Given the description of an element on the screen output the (x, y) to click on. 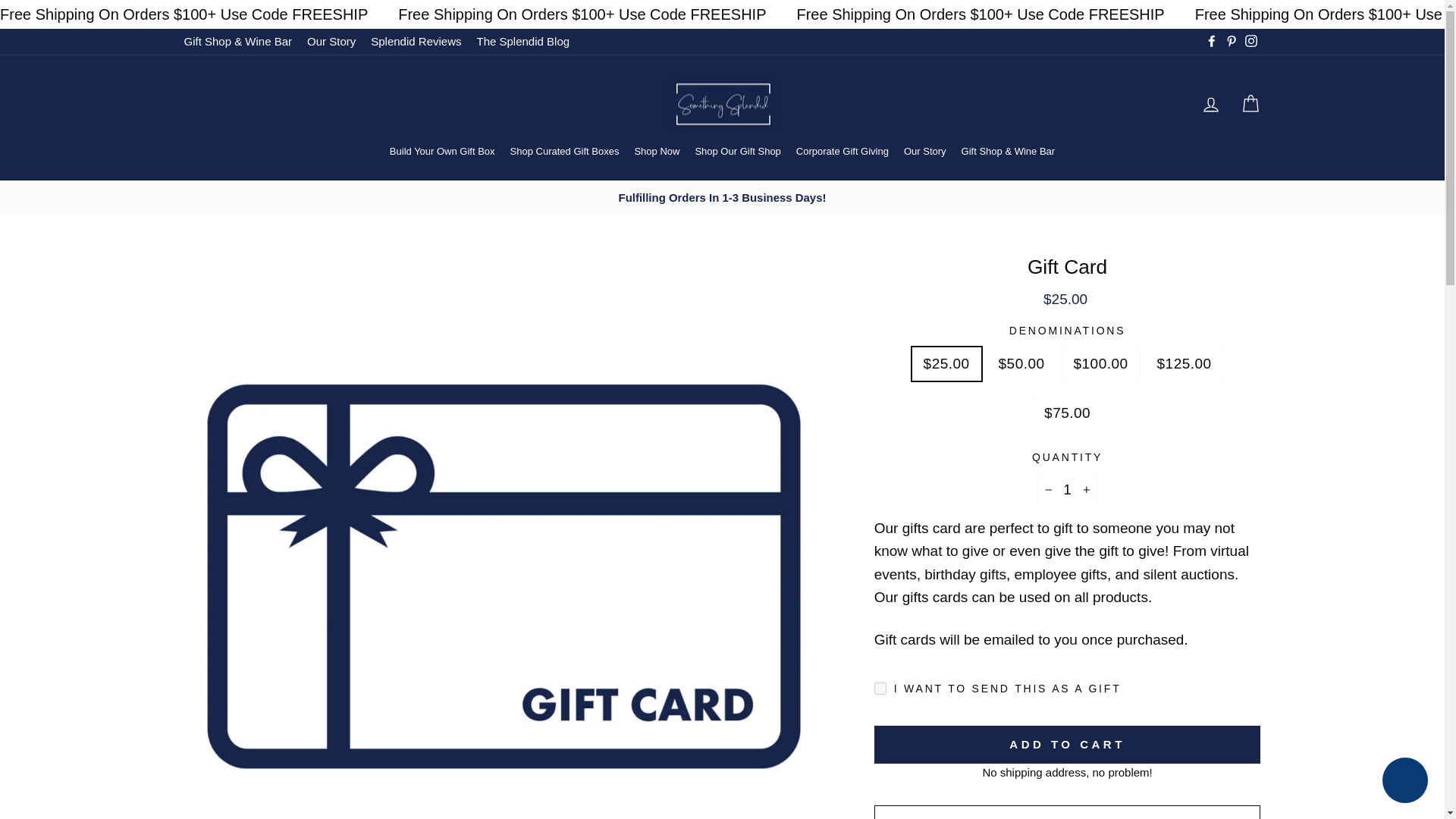
Shopify online store chat (1404, 781)
on (880, 688)
1 (1066, 490)
Account (1210, 104)
